Given the description of an element on the screen output the (x, y) to click on. 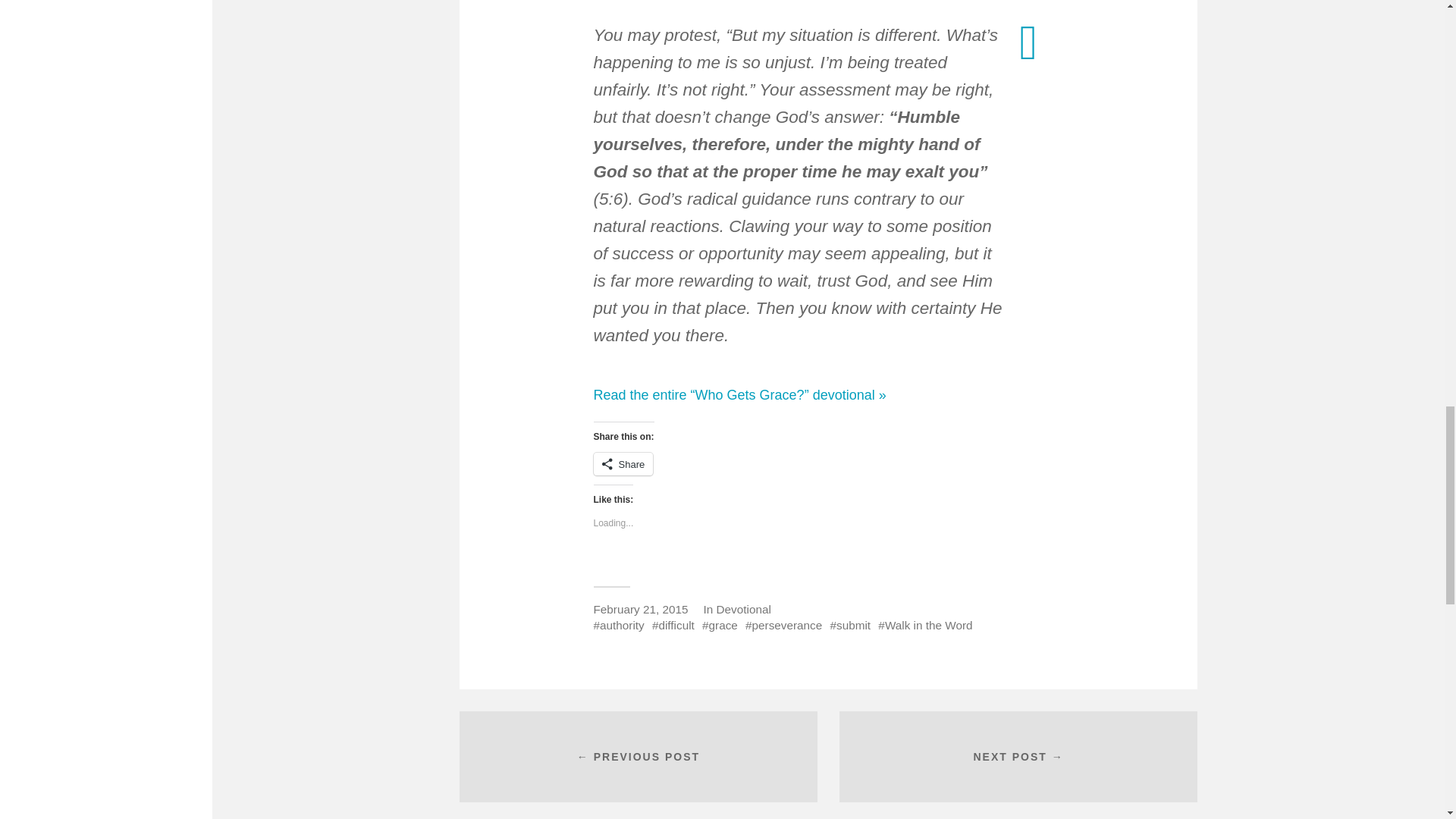
perseverance (783, 625)
February 21, 2015 (639, 608)
authority (617, 625)
grace (719, 625)
Share (622, 463)
difficult (673, 625)
Devotional (743, 608)
submit (849, 625)
